Given the description of an element on the screen output the (x, y) to click on. 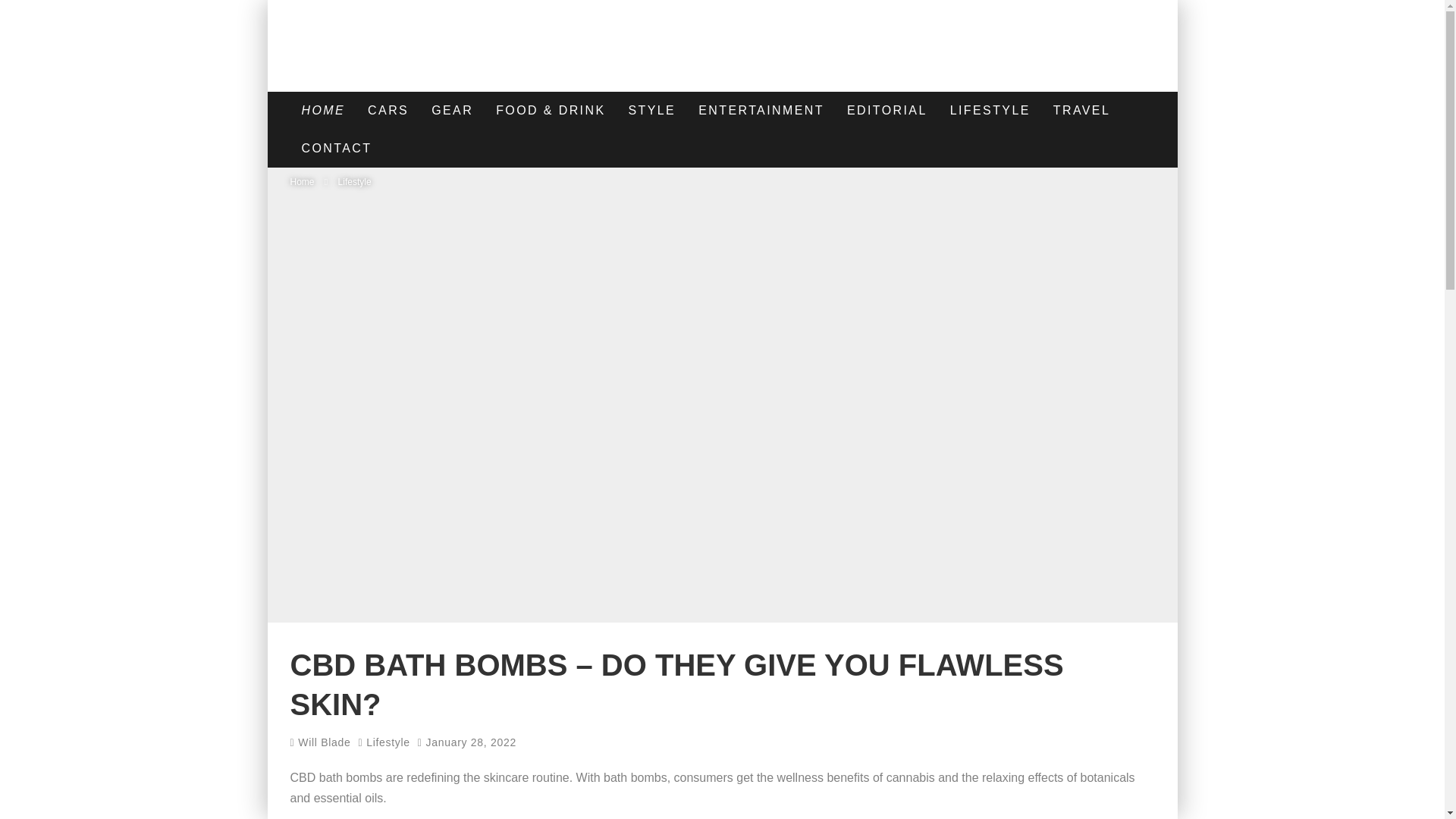
CARS (388, 110)
HOME (322, 110)
GEAR (452, 110)
